Given the description of an element on the screen output the (x, y) to click on. 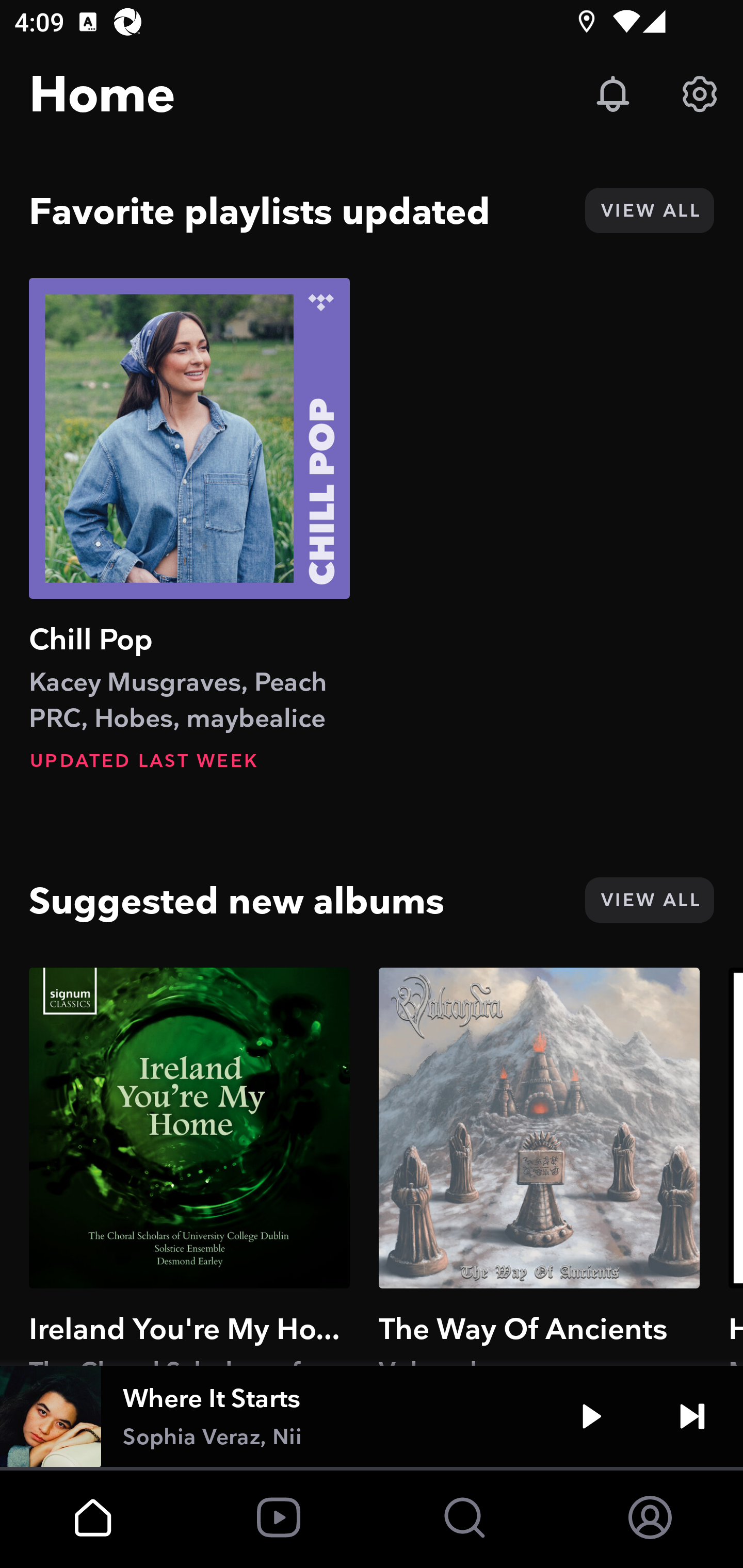
Updates (612, 93)
Settings (699, 93)
VIEW ALL (649, 210)
VIEW ALL (649, 899)
The Way Of Ancients Volcandra (538, 1166)
Where It Starts Sophia Veraz, Nii Play (371, 1416)
Play (590, 1416)
